Given the description of an element on the screen output the (x, y) to click on. 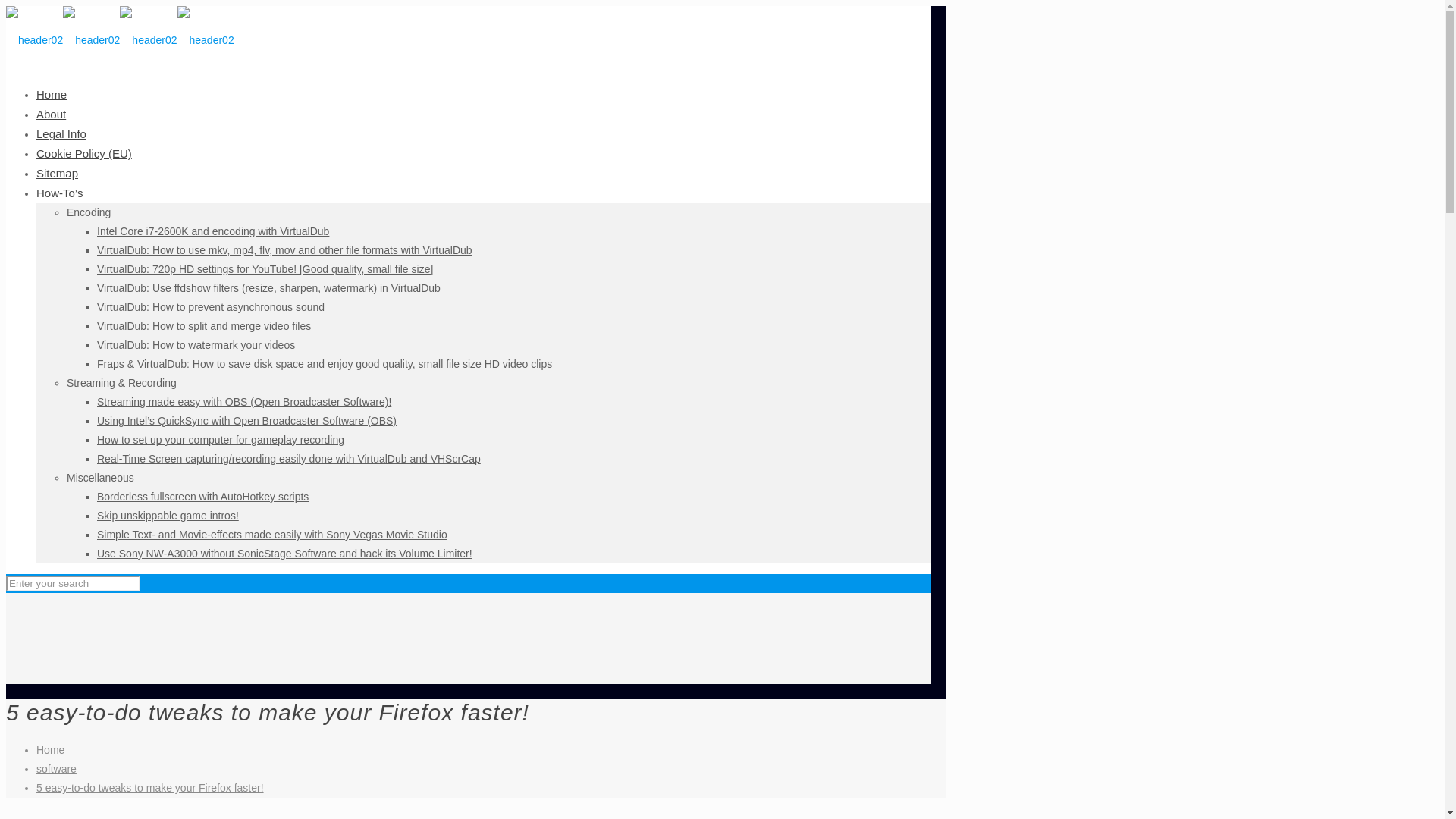
VirtualDub: How to watermark your videos (196, 345)
VirtualDub: How to split and merge video files (204, 326)
The Kaputniks (119, 39)
Encoding (88, 212)
Borderless fullscreen with AutoHotkey scripts (202, 496)
software (56, 768)
5 easy-to-do tweaks to make your Firefox faster! (149, 787)
Miscellaneous (99, 477)
How to set up your computer for gameplay recording (220, 439)
Intel Core i7-2600K and encoding with VirtualDub (213, 231)
Skip unskippable game intros! (167, 515)
Home (50, 749)
